Given the description of an element on the screen output the (x, y) to click on. 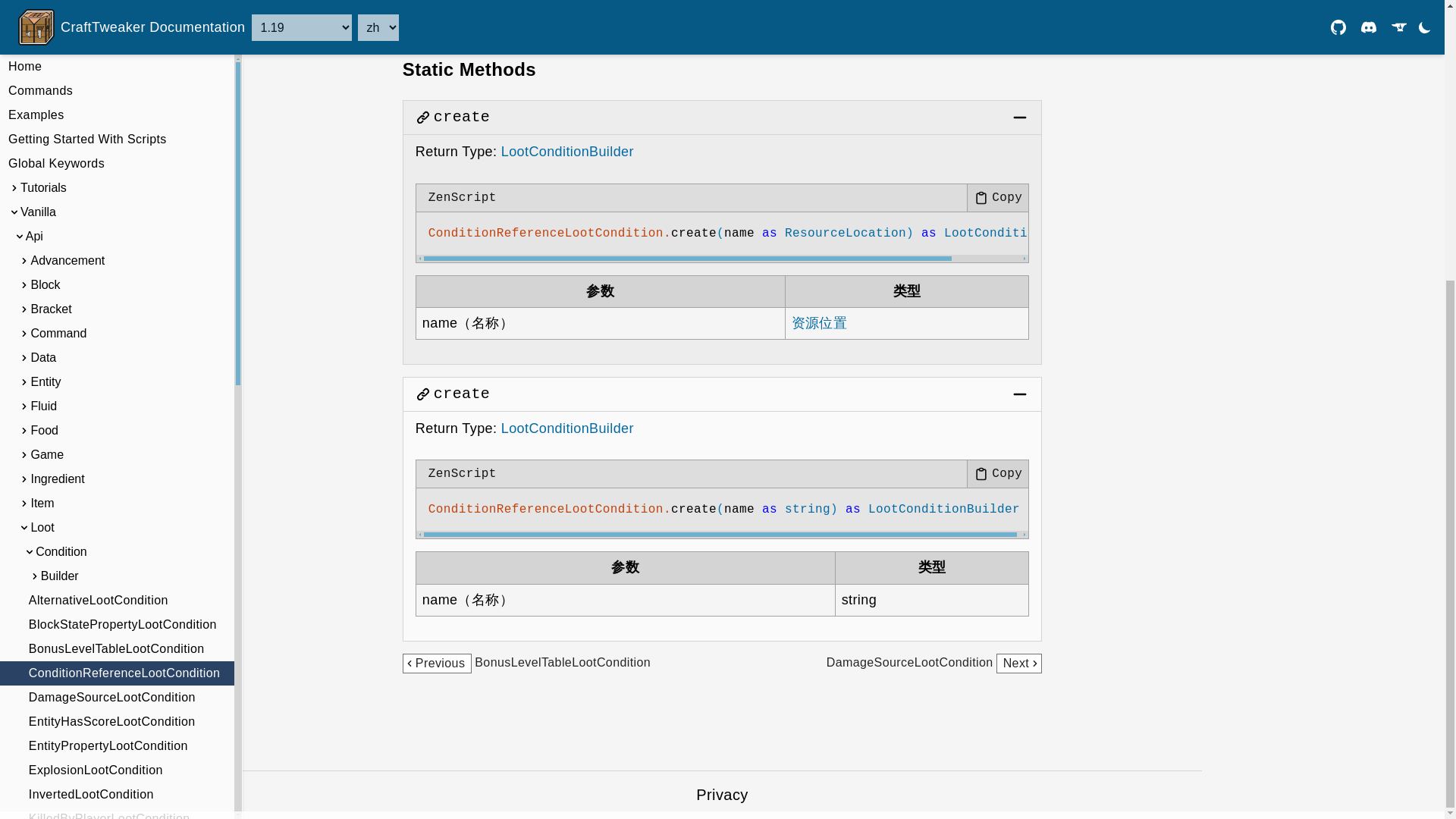
Loot (117, 109)
AlternativeLootCondition (117, 182)
Food (117, 12)
Item (117, 85)
create (461, 117)
create (461, 394)
ExplosionLootCondition (117, 352)
InvertedLootCondition (117, 376)
DamageSourceLootCondition (117, 279)
BonusLevelTableLootCondition (117, 231)
Builder (117, 158)
Static Methods (469, 69)
Ingredient (117, 61)
EntityPropertyLootCondition (117, 328)
ConditionReferenceLootCondition (117, 255)
